Given the description of an element on the screen output the (x, y) to click on. 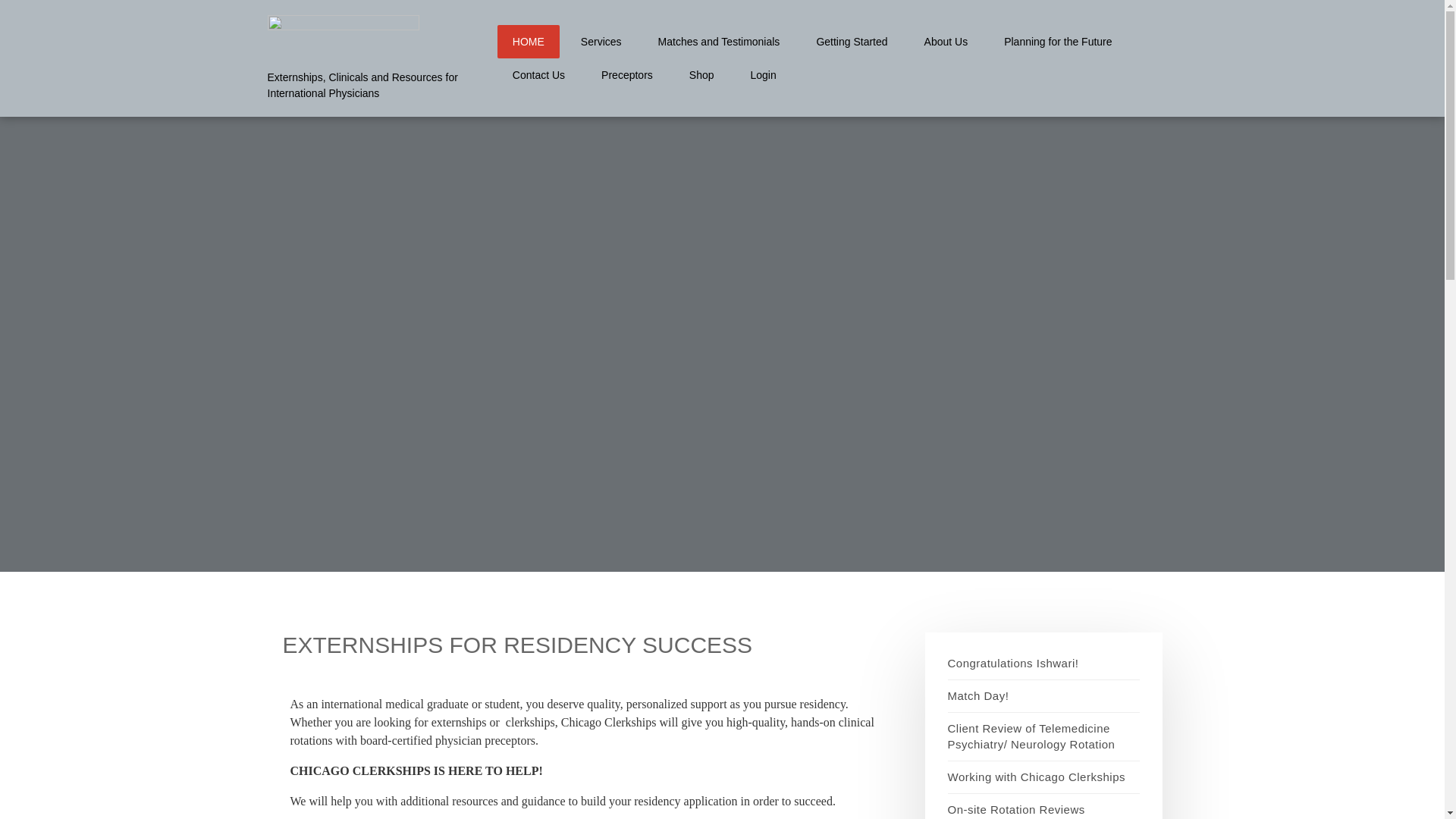
Shop (701, 74)
About Us (946, 41)
Planning for the Future (1058, 41)
Login (763, 74)
Contact Us (538, 74)
Getting Started (850, 41)
Shop (701, 74)
Services (600, 41)
Matches and Testimonials (719, 41)
HOME (528, 41)
Preceptors (626, 74)
